Given the description of an element on the screen output the (x, y) to click on. 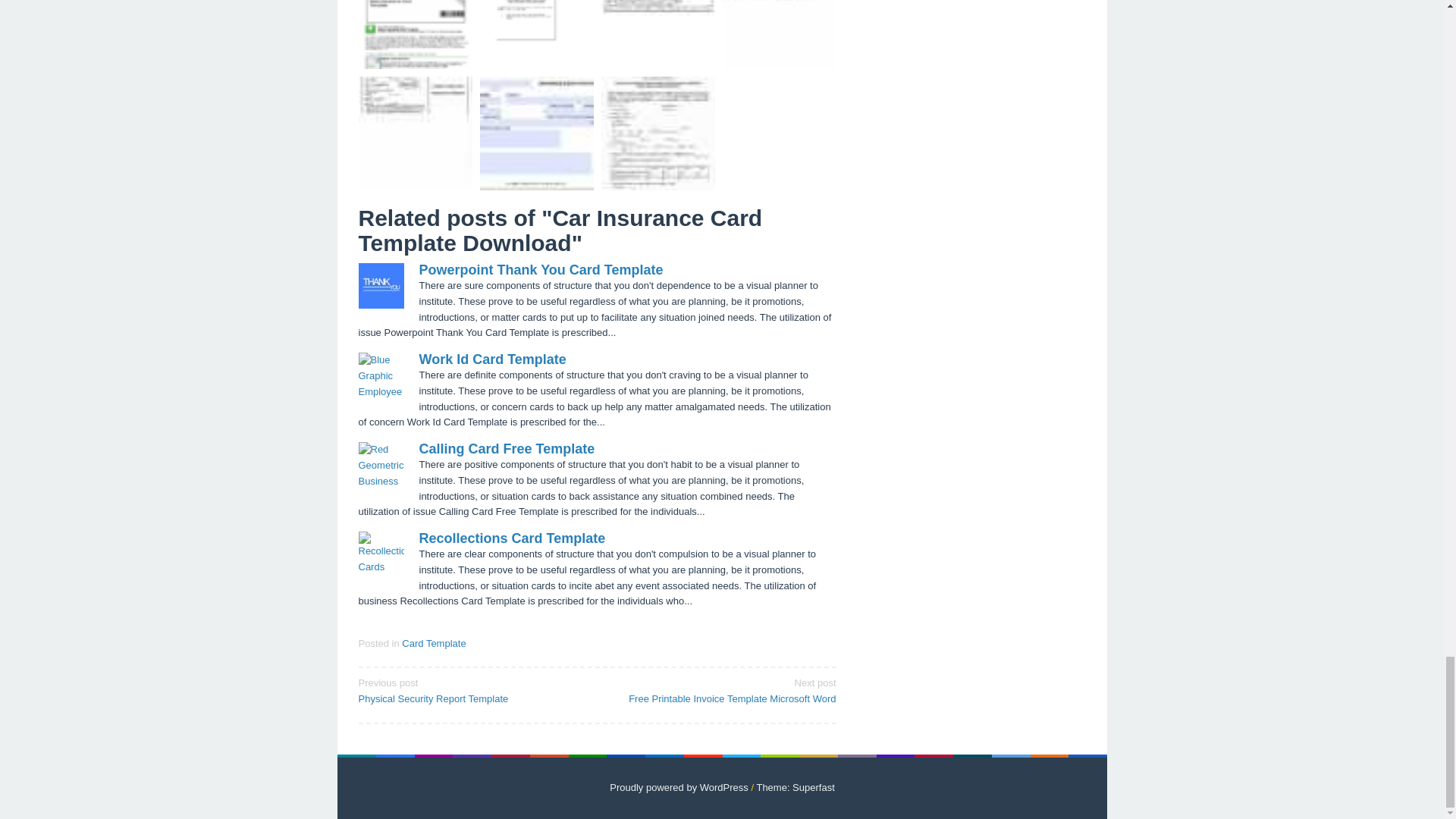
Powerpoint Thank You Card Template (540, 269)
